Given the description of an element on the screen output the (x, y) to click on. 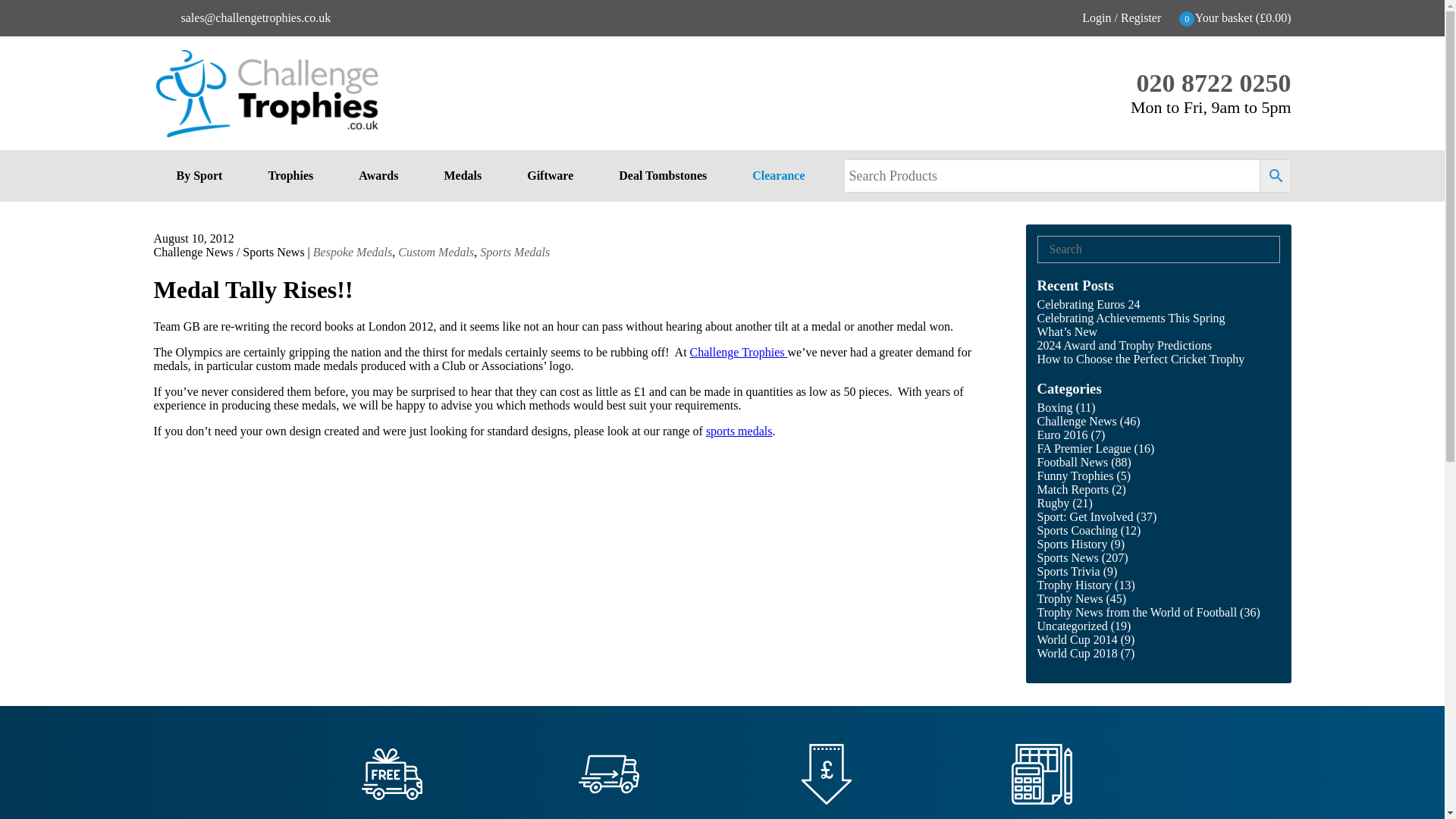
Clearance (778, 175)
Awards (378, 175)
020 8722 0250 (1212, 82)
Celebrating Achievements This Spring (1130, 318)
Giftware (549, 175)
Challenge Trophies (738, 351)
Trophies (290, 175)
Challenge News (192, 251)
Medals (461, 175)
Custom Medals (435, 251)
